Given the description of an element on the screen output the (x, y) to click on. 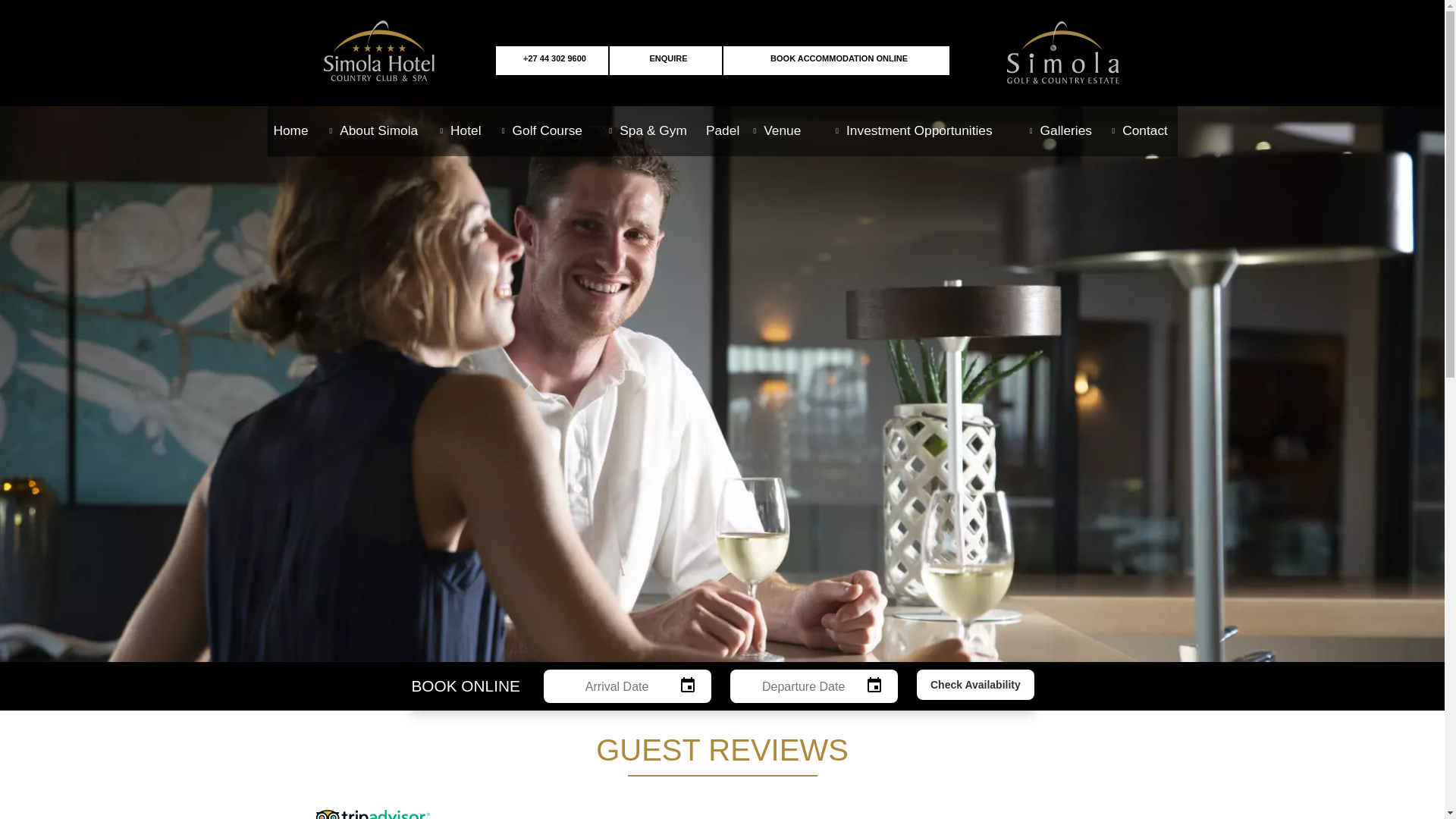
Hotel (459, 130)
Galleries (1060, 130)
Padel (722, 130)
BOOK ACCOMMODATION ONLINE (835, 60)
ENQUIRE (665, 60)
Investment Opportunities (914, 130)
About Simola (373, 130)
Golf Course (541, 130)
Home (290, 130)
Venue (777, 130)
